Given the description of an element on the screen output the (x, y) to click on. 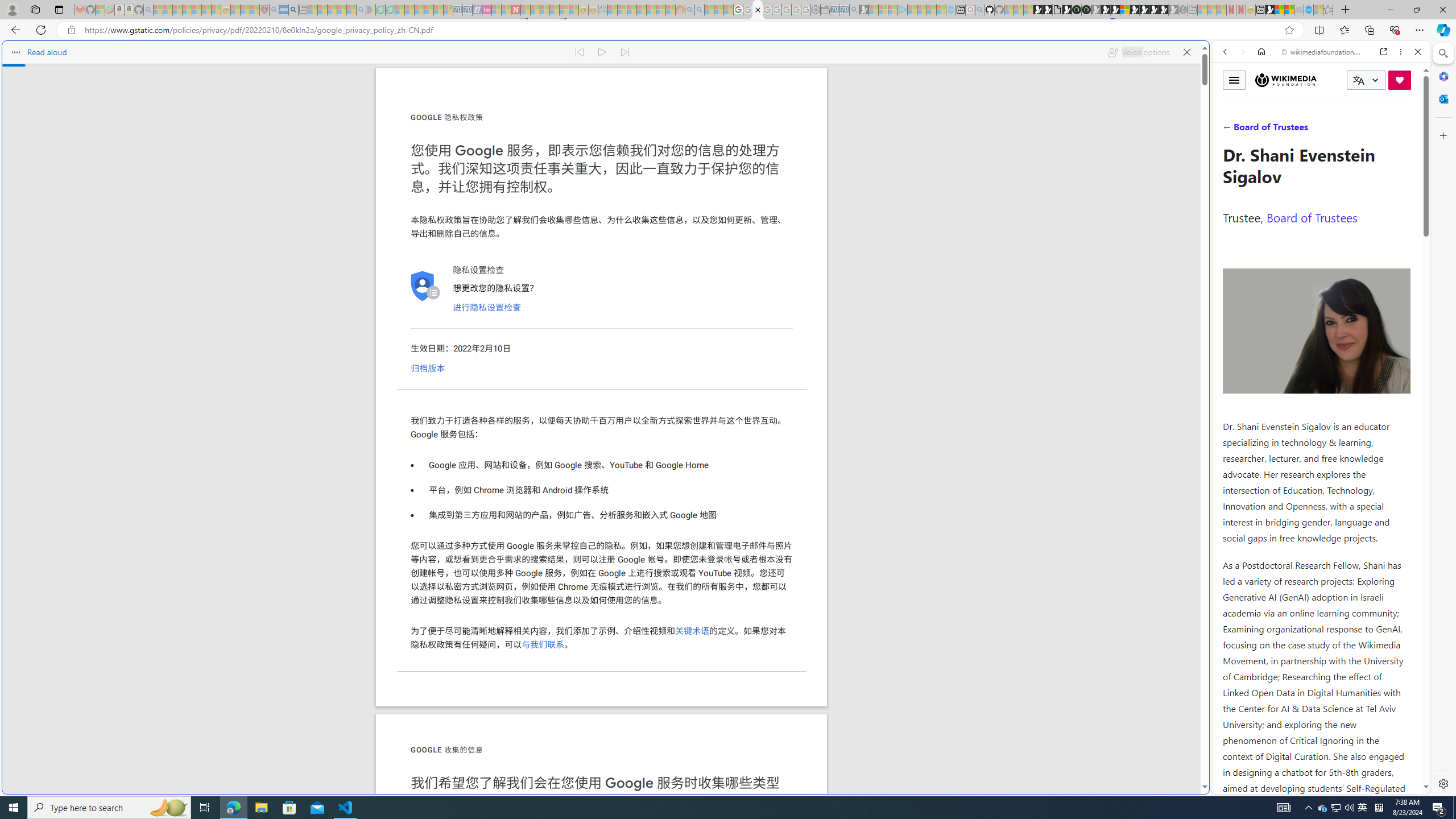
Pets - MSN - Sleeping (340, 9)
Kinda Frugal - MSN - Sleeping (651, 9)
Utah sues federal government - Search - Sleeping (699, 9)
Robert H. Shmerling, MD - Harvard Health - Sleeping (263, 9)
Microsoft Start Gaming - Sleeping (863, 9)
Favorites (922, 683)
Wikimedia Foundation (1285, 79)
Browser essentials (1394, 29)
Sign in to your account (1124, 9)
